Given the description of an element on the screen output the (x, y) to click on. 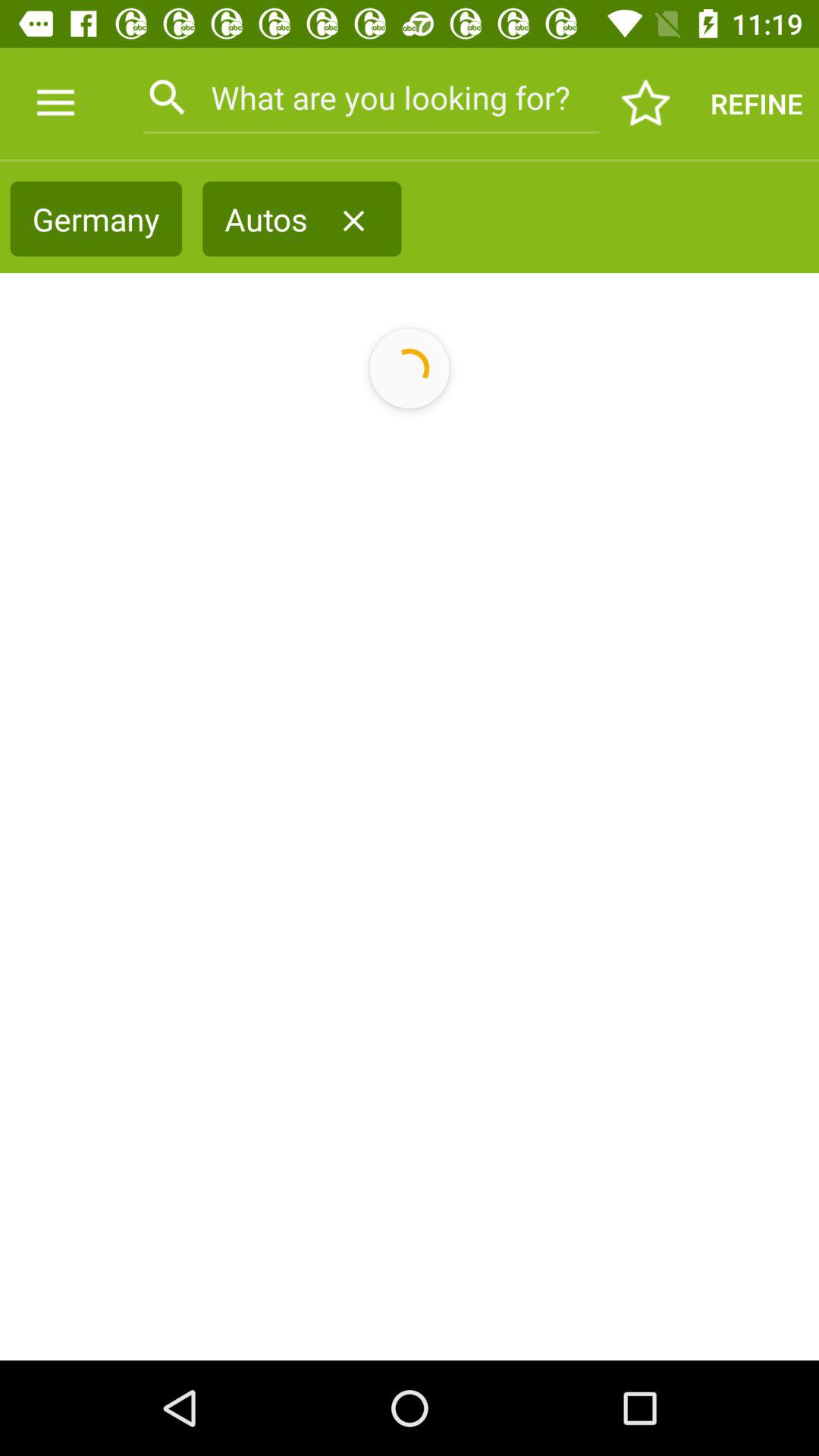
open the item to the left of refine item (646, 103)
